Given the description of an element on the screen output the (x, y) to click on. 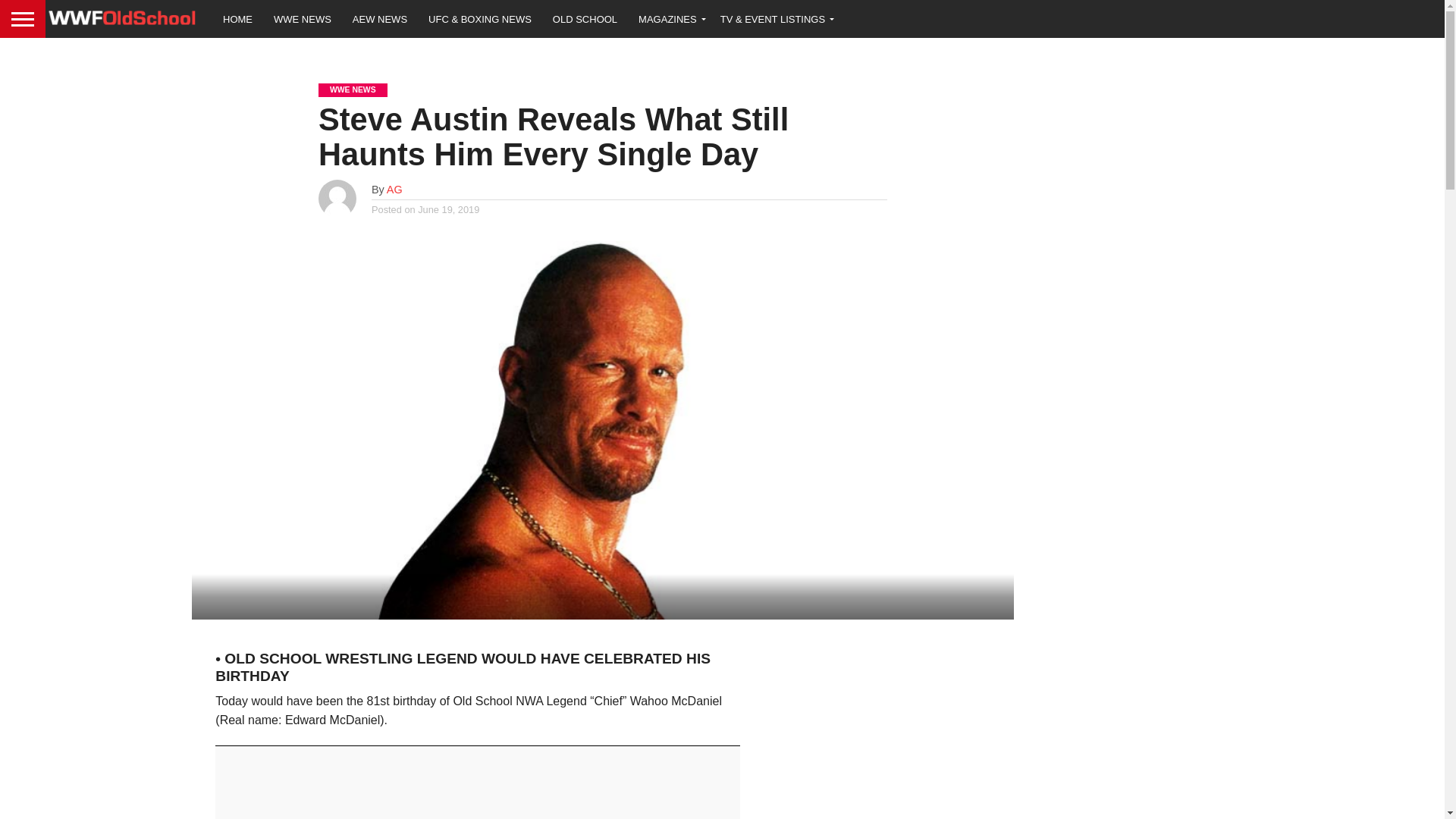
HOME (237, 18)
WWE NEWS (302, 18)
Posts by AG (395, 189)
AEW NEWS (379, 18)
OLD SCHOOL (584, 18)
MAGAZINES (668, 18)
